Given the description of an element on the screen output the (x, y) to click on. 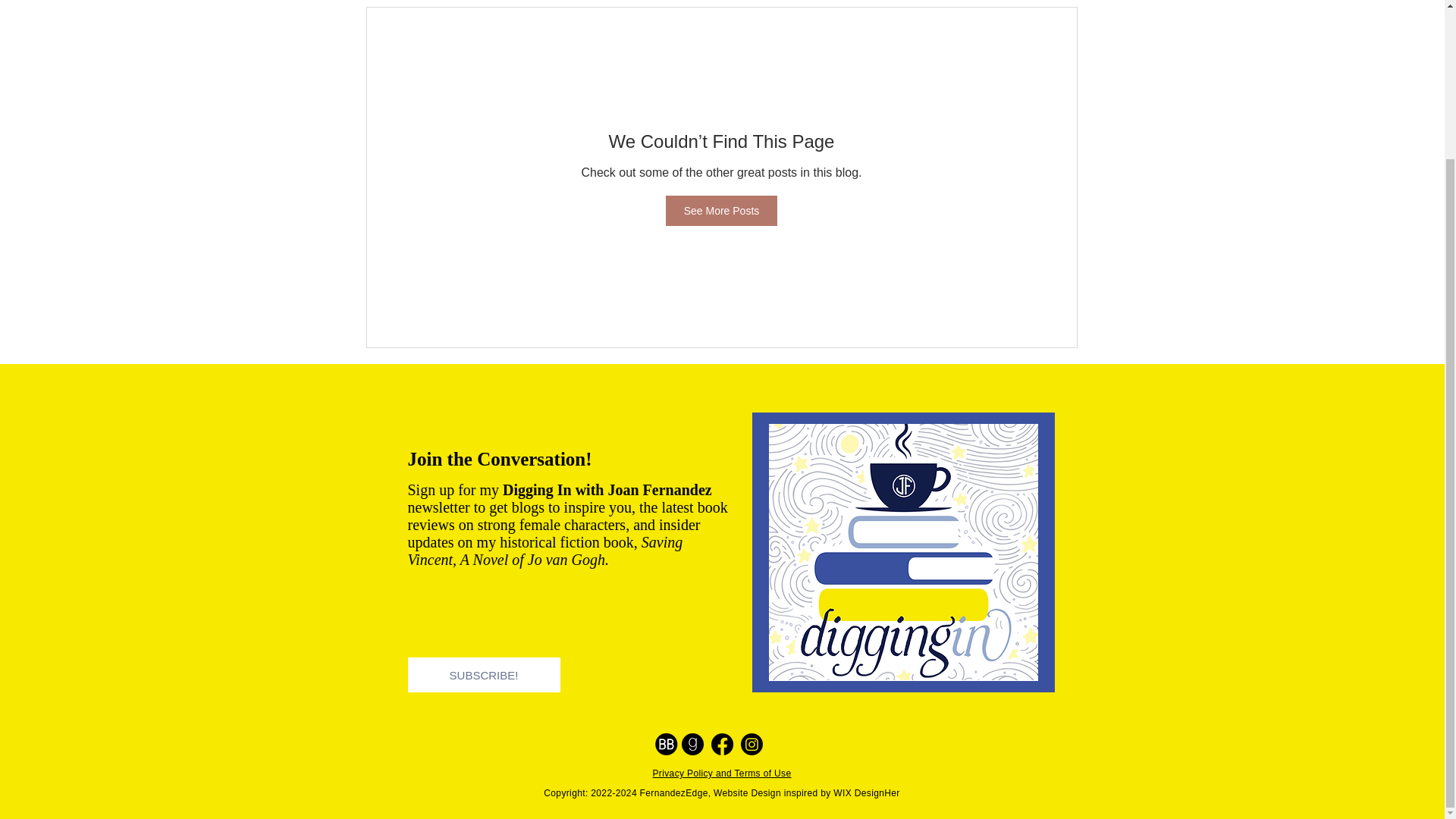
Privacy Policy and Terms of Use (721, 773)
SUBSCRIBE! (483, 674)
See More Posts (721, 210)
